Given the description of an element on the screen output the (x, y) to click on. 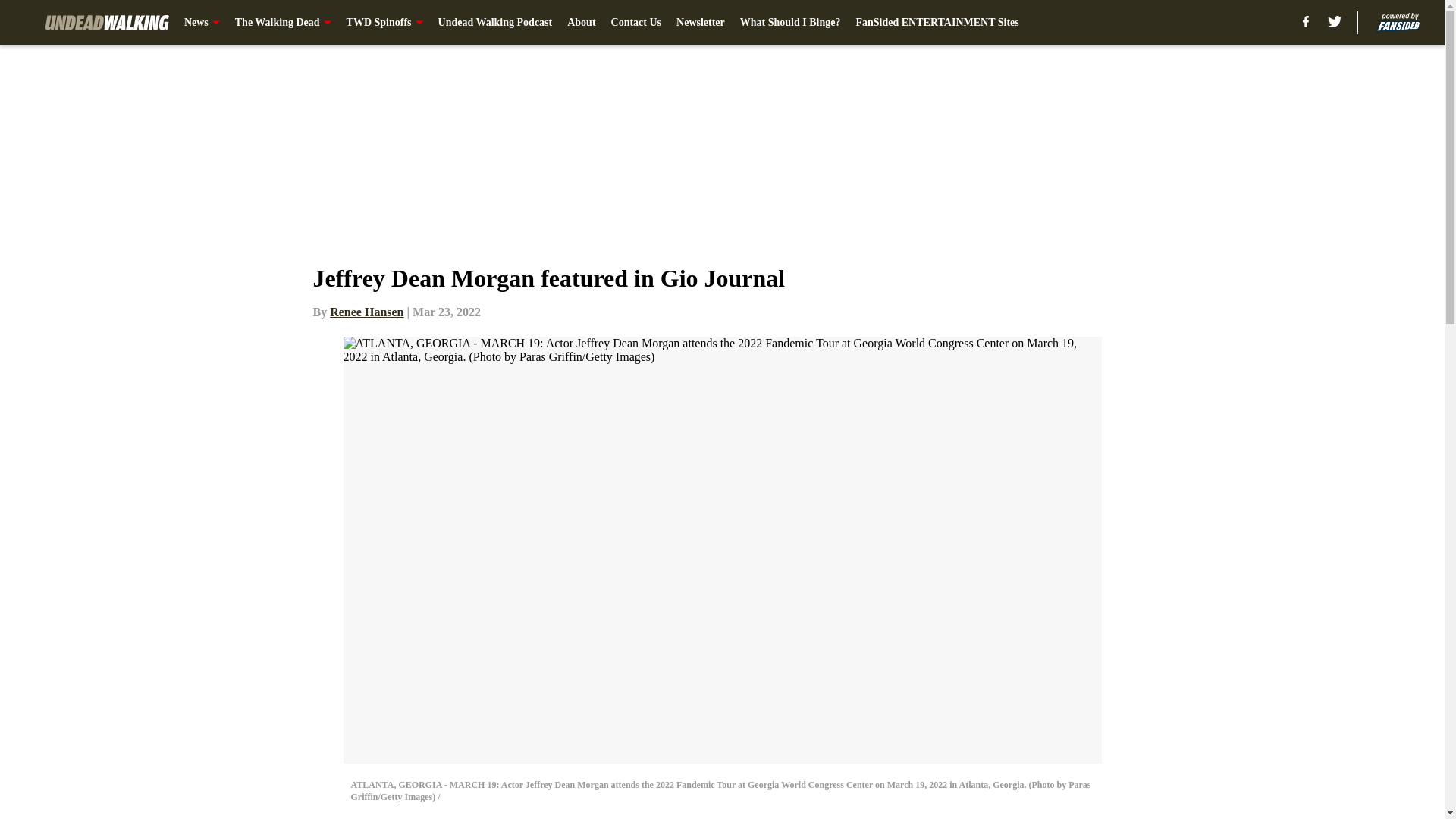
FanSided ENTERTAINMENT Sites (936, 22)
About (581, 22)
Contact Us (636, 22)
Newsletter (701, 22)
Renee Hansen (366, 311)
Undead Walking Podcast (495, 22)
What Should I Binge? (790, 22)
